Given the description of an element on the screen output the (x, y) to click on. 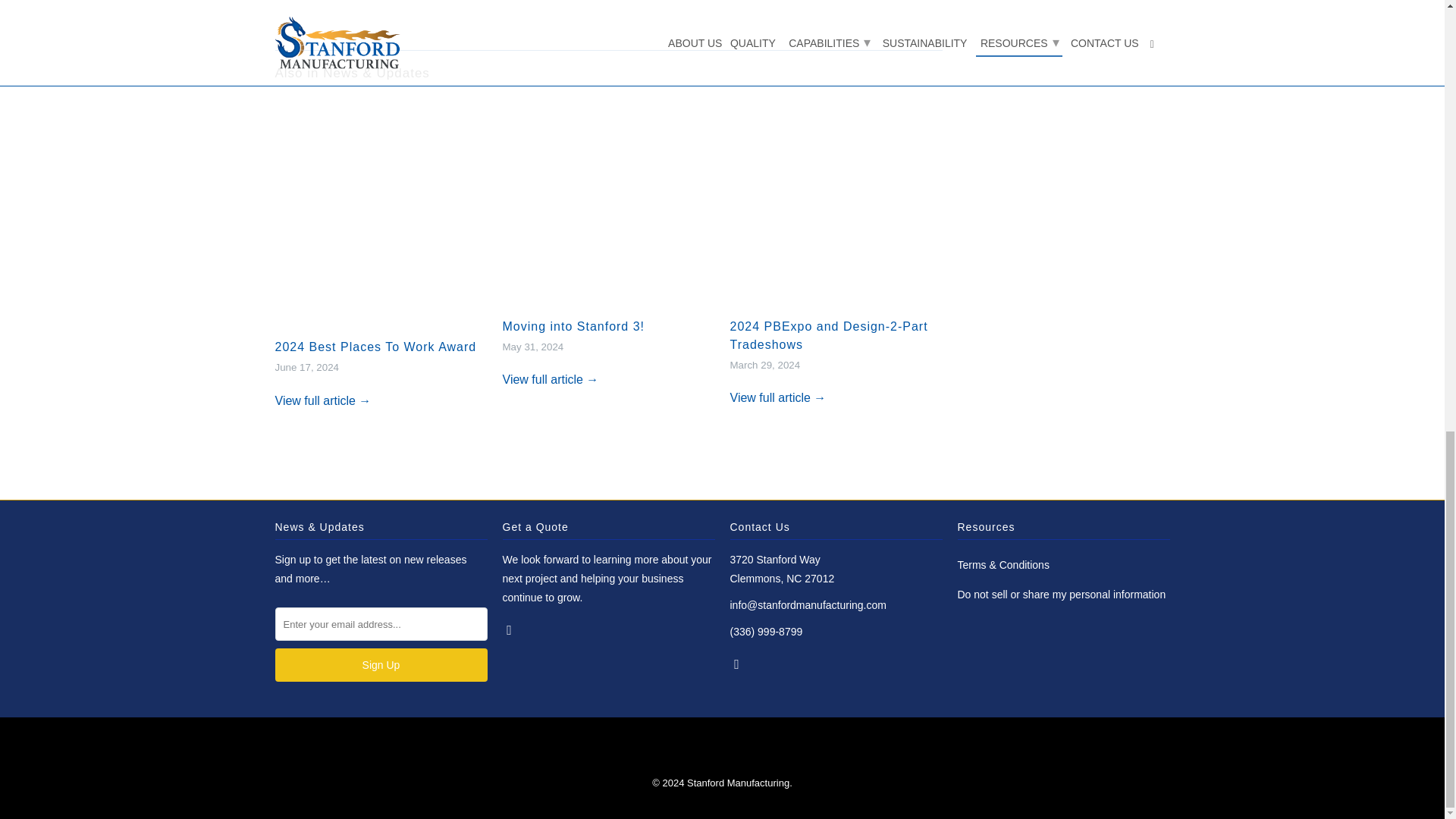
2024 Best Places To Work Award (323, 400)
2024 PBExpo and Design-2-Part Tradeshows (828, 335)
Moving into Stanford 3! (550, 379)
Moving into Stanford 3! (608, 207)
2024 Best Places To Work Award (375, 346)
Stanford Manufacturing on LinkedIn (510, 629)
Moving into Stanford 3! (573, 326)
Moving into Stanford 3! (573, 326)
2024 PBExpo and Design-2-Part Tradeshows (835, 207)
Sign Up (380, 664)
